Given the description of an element on the screen output the (x, y) to click on. 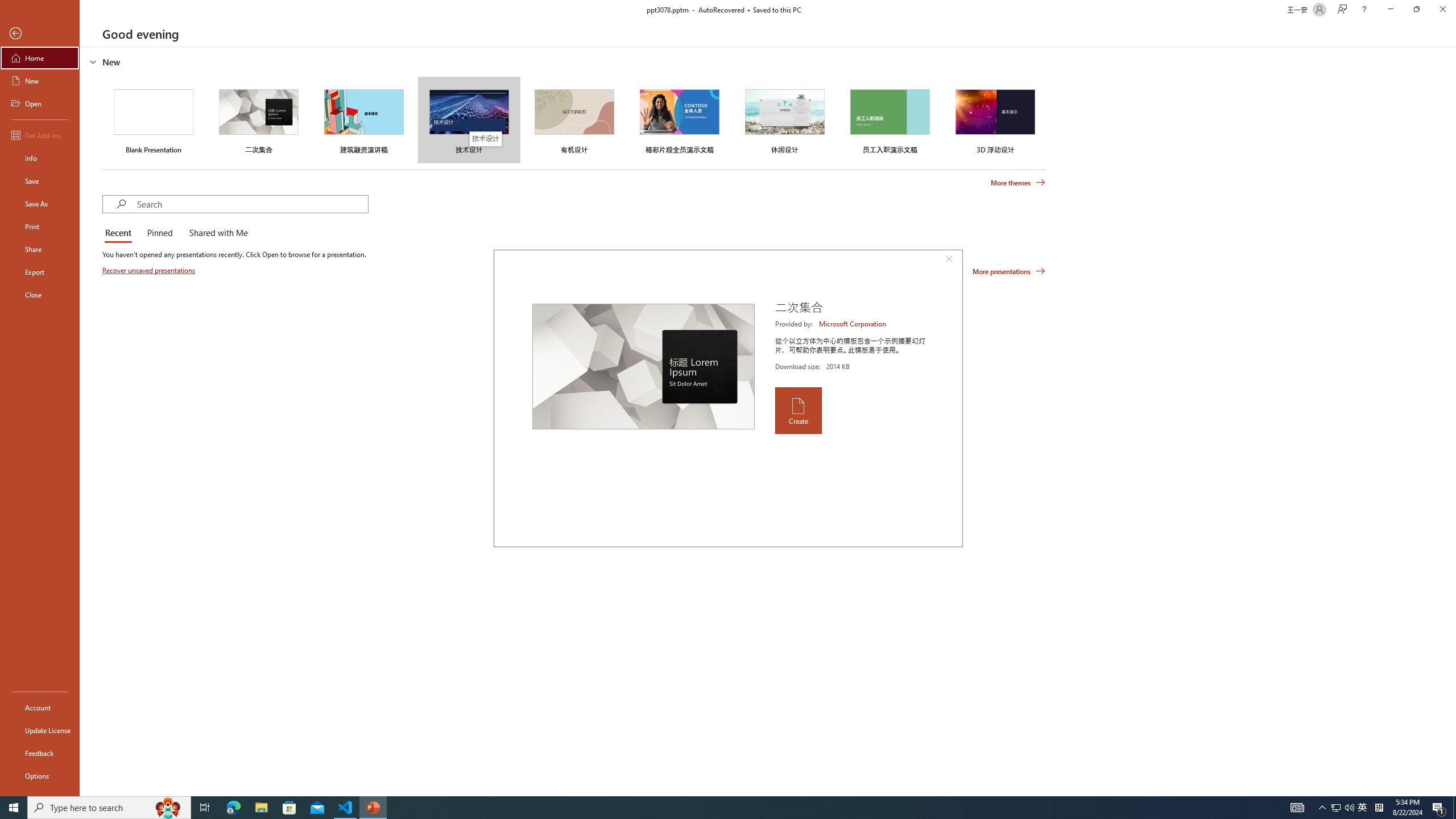
Export (40, 271)
